Given the description of an element on the screen output the (x, y) to click on. 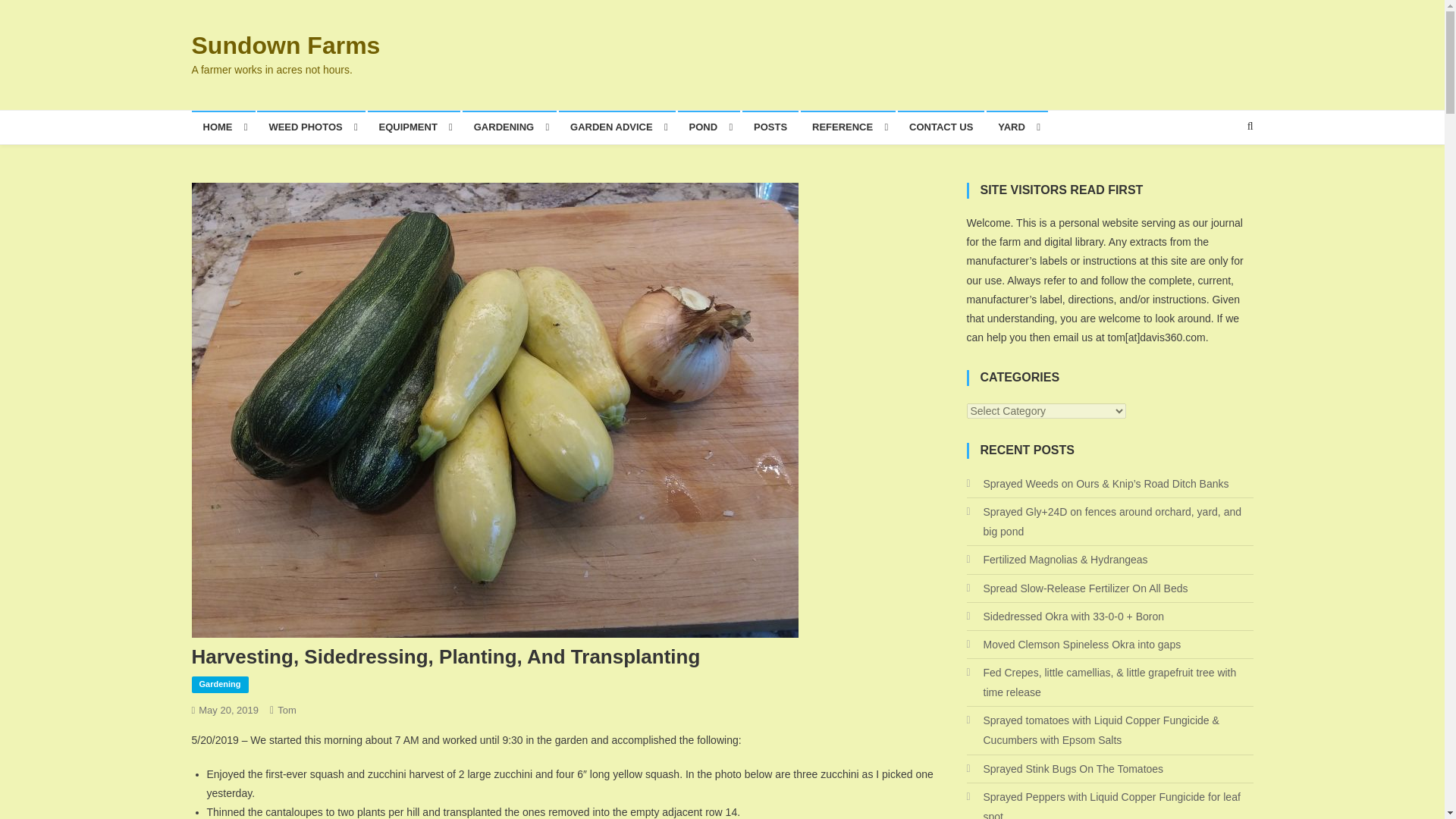
Sundown Farms (285, 44)
WEED PHOTOS (311, 127)
HOME (222, 127)
